Given the description of an element on the screen output the (x, y) to click on. 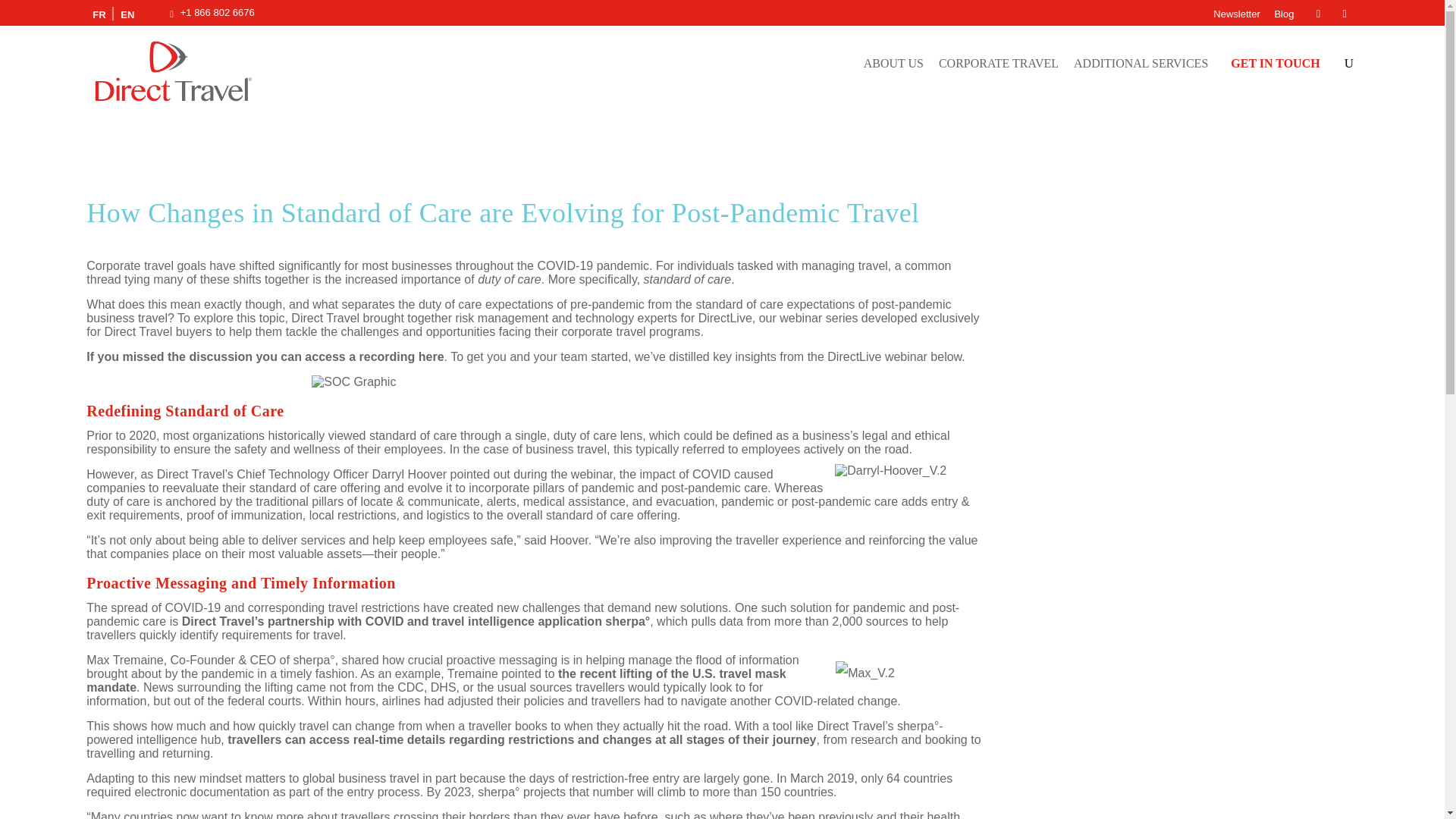
Newsletter (1235, 13)
CORPORATE TRAVEL (998, 63)
FR (98, 14)
ABOUT US (893, 63)
EN (127, 14)
Blog (1284, 13)
